Given the description of an element on the screen output the (x, y) to click on. 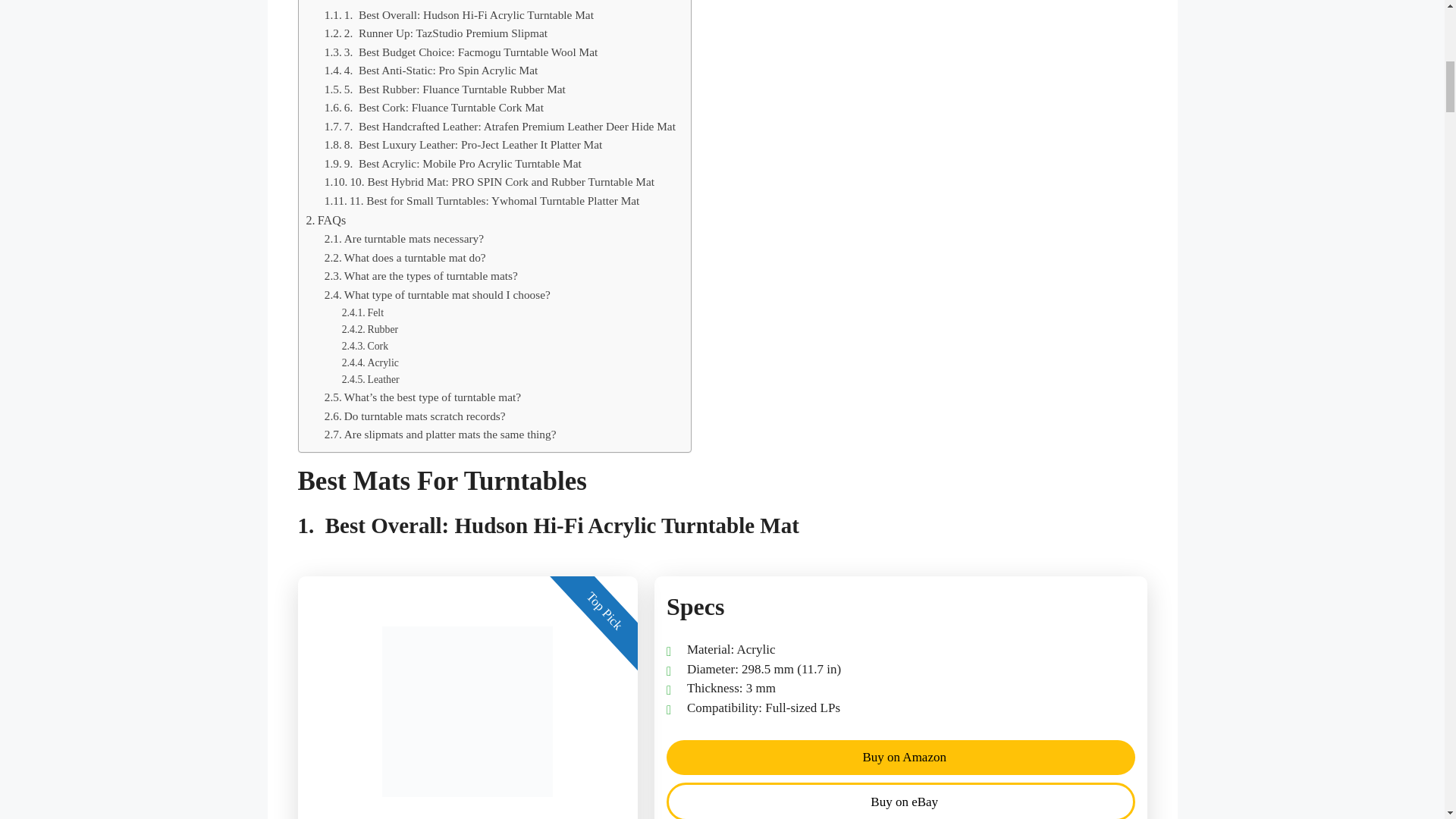
Best Mats For Turntables (373, 2)
